Given the description of an element on the screen output the (x, y) to click on. 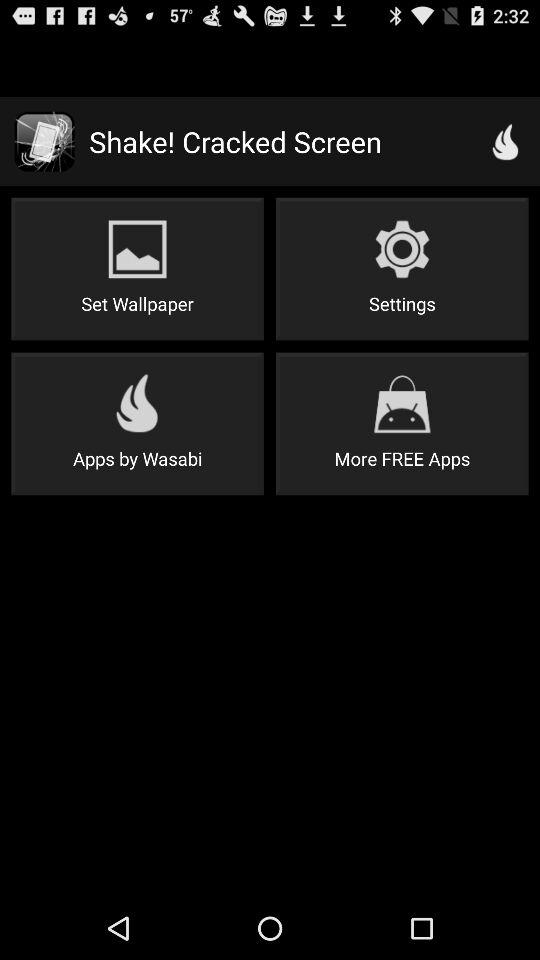
flip until settings button (402, 268)
